Given the description of an element on the screen output the (x, y) to click on. 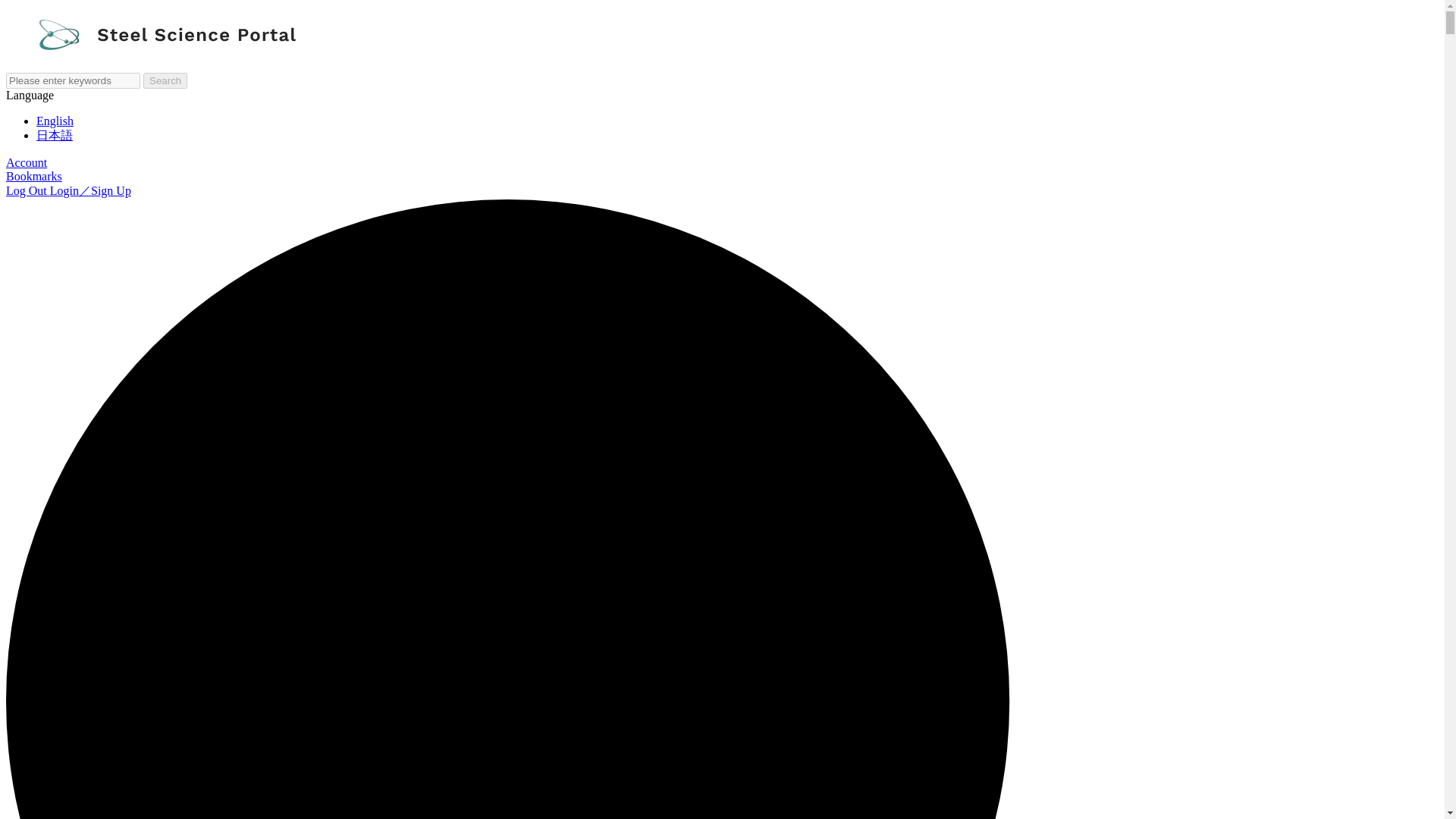
Language (29, 94)
Account (25, 162)
Japanese (54, 134)
Bookmarks (33, 175)
Search (164, 80)
Search (164, 80)
Log Out (27, 190)
English (55, 120)
English (55, 120)
